Given the description of an element on the screen output the (x, y) to click on. 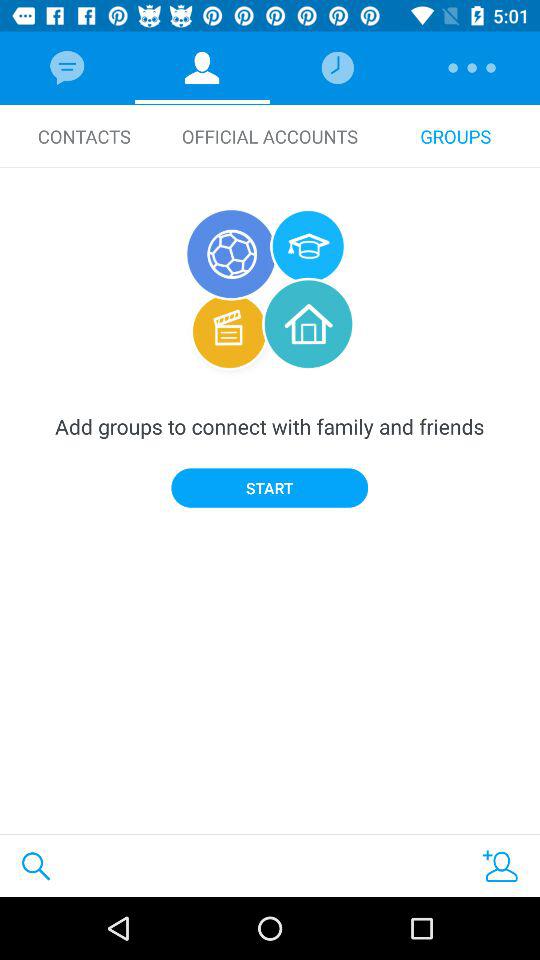
scroll until the official accounts (269, 136)
